Given the description of an element on the screen output the (x, y) to click on. 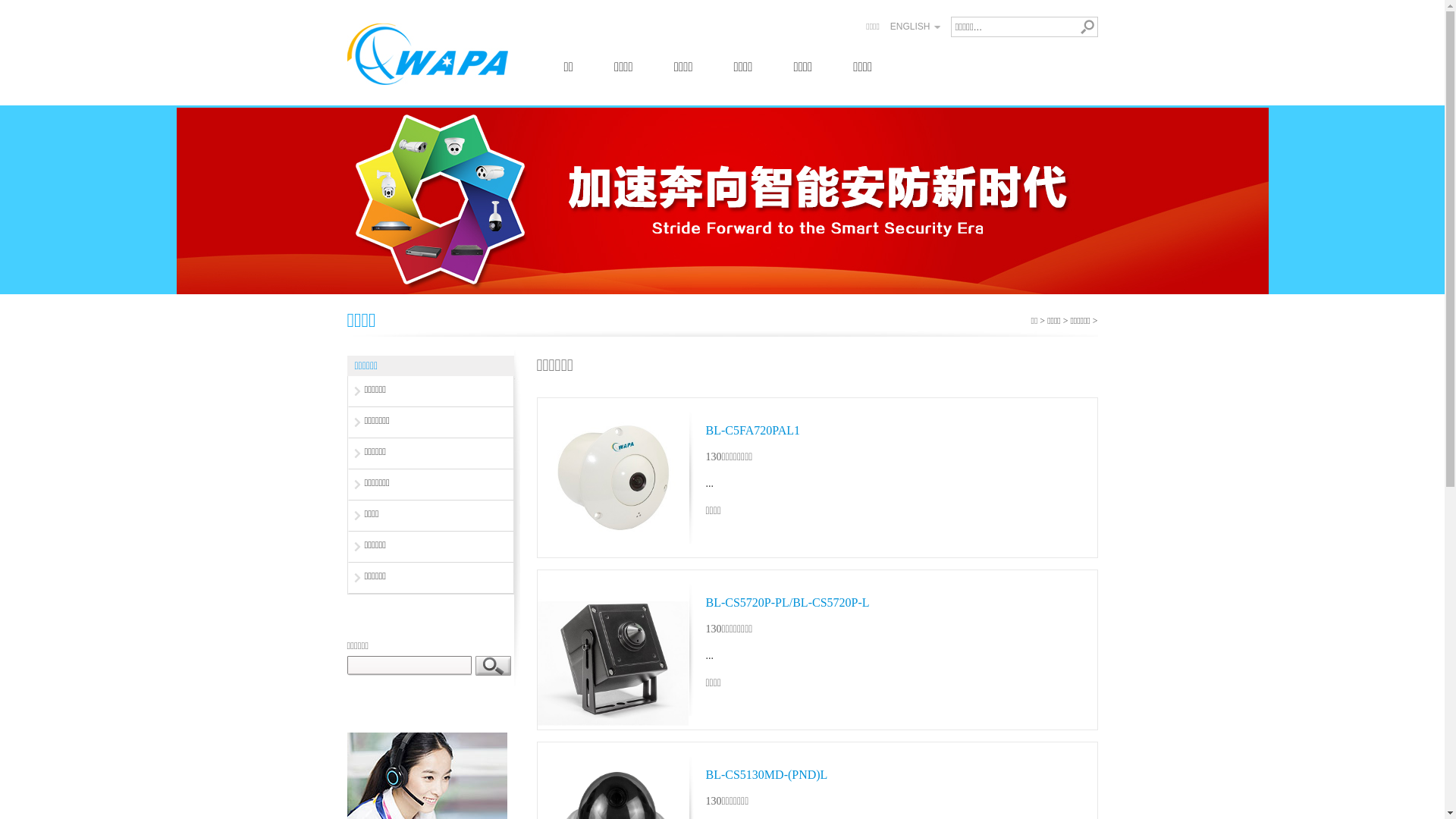
ENGLISH Element type: text (910, 26)
  Element type: text (492, 665)
BL-CS5720P-PL/BL-CS5720P-L Element type: text (787, 602)
BL-C5FA720PAL1 Element type: text (752, 429)
BL-CS5130MD-(PND)L Element type: text (766, 774)
